Given the description of an element on the screen output the (x, y) to click on. 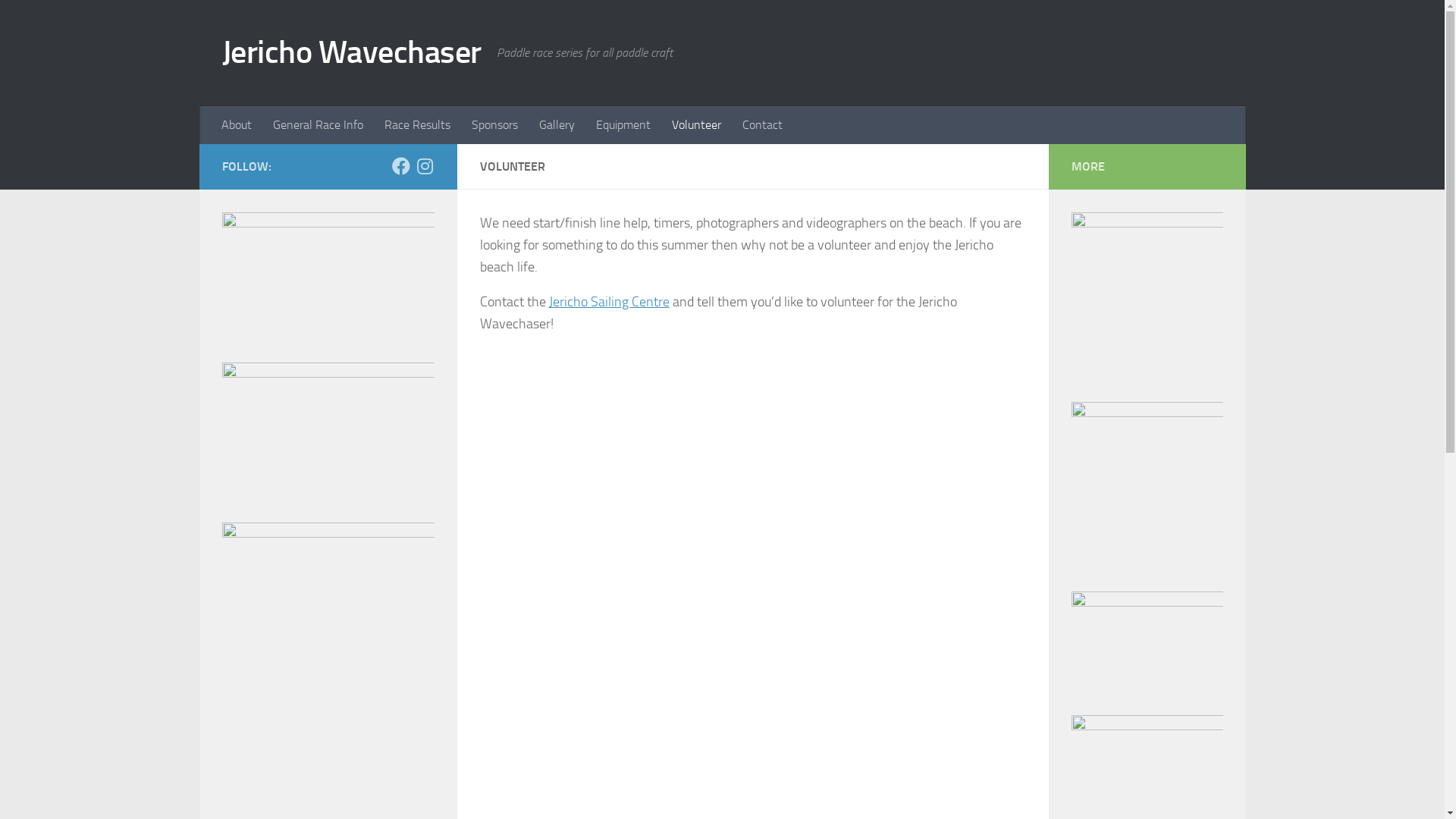
Race Results Element type: text (416, 125)
Contact Element type: text (761, 125)
About Element type: text (236, 125)
Sponsors Element type: text (494, 125)
Jericho Wavechaser Element type: text (350, 52)
Skip to content Element type: text (60, 21)
Gallery Element type: text (555, 125)
Facebook Element type: hover (400, 165)
Volunteer Element type: text (696, 125)
Equipment Element type: text (623, 125)
Jericho Sailing Centre Element type: text (609, 301)
General Race Info Element type: text (317, 125)
Instagram Element type: hover (424, 165)
